Given the description of an element on the screen output the (x, y) to click on. 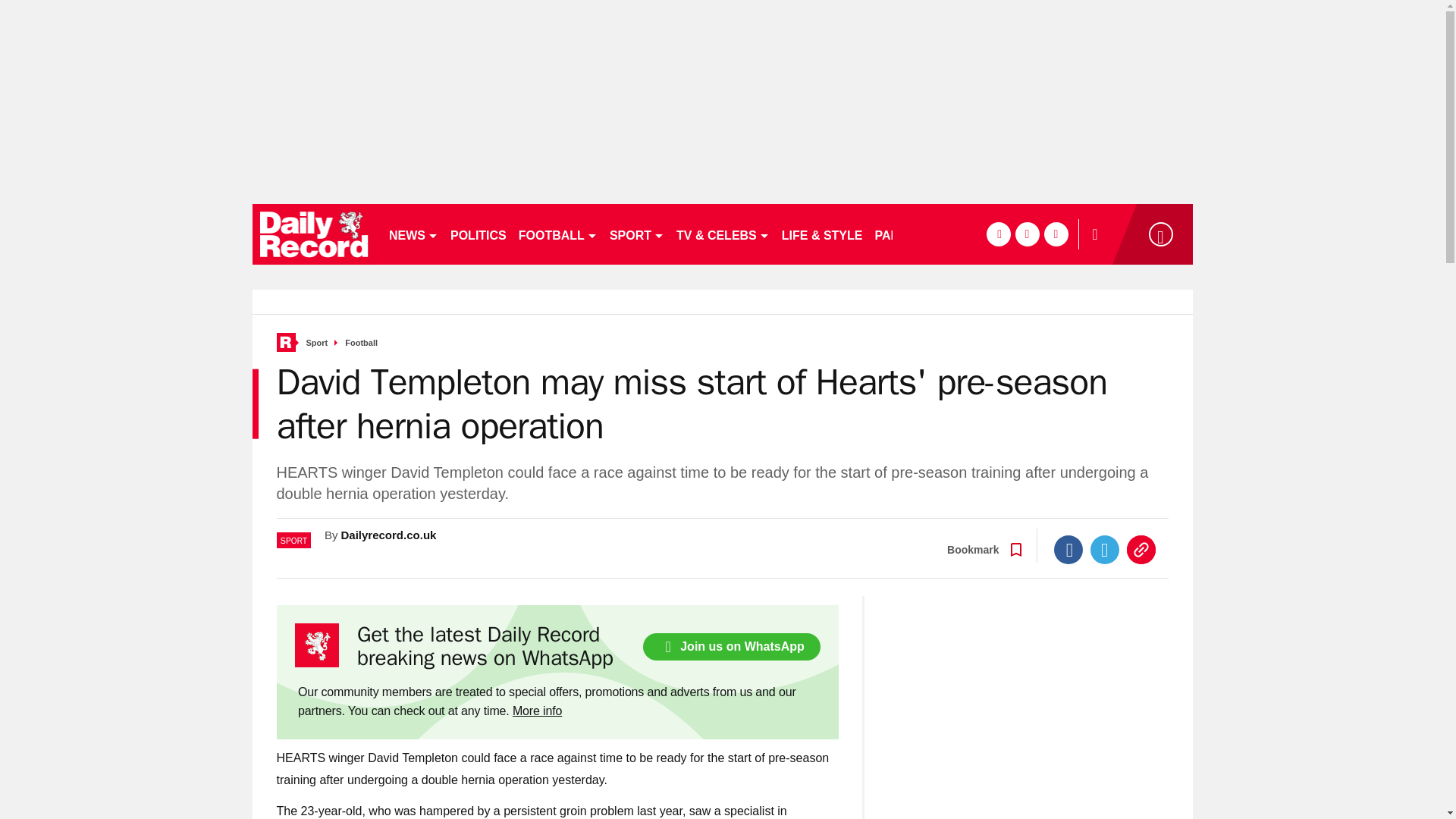
NEWS (413, 233)
instagram (1055, 233)
dailyrecord (313, 233)
Twitter (1104, 549)
Facebook (1068, 549)
facebook (997, 233)
POLITICS (478, 233)
twitter (1026, 233)
SPORT (636, 233)
FOOTBALL (558, 233)
